Given the description of an element on the screen output the (x, y) to click on. 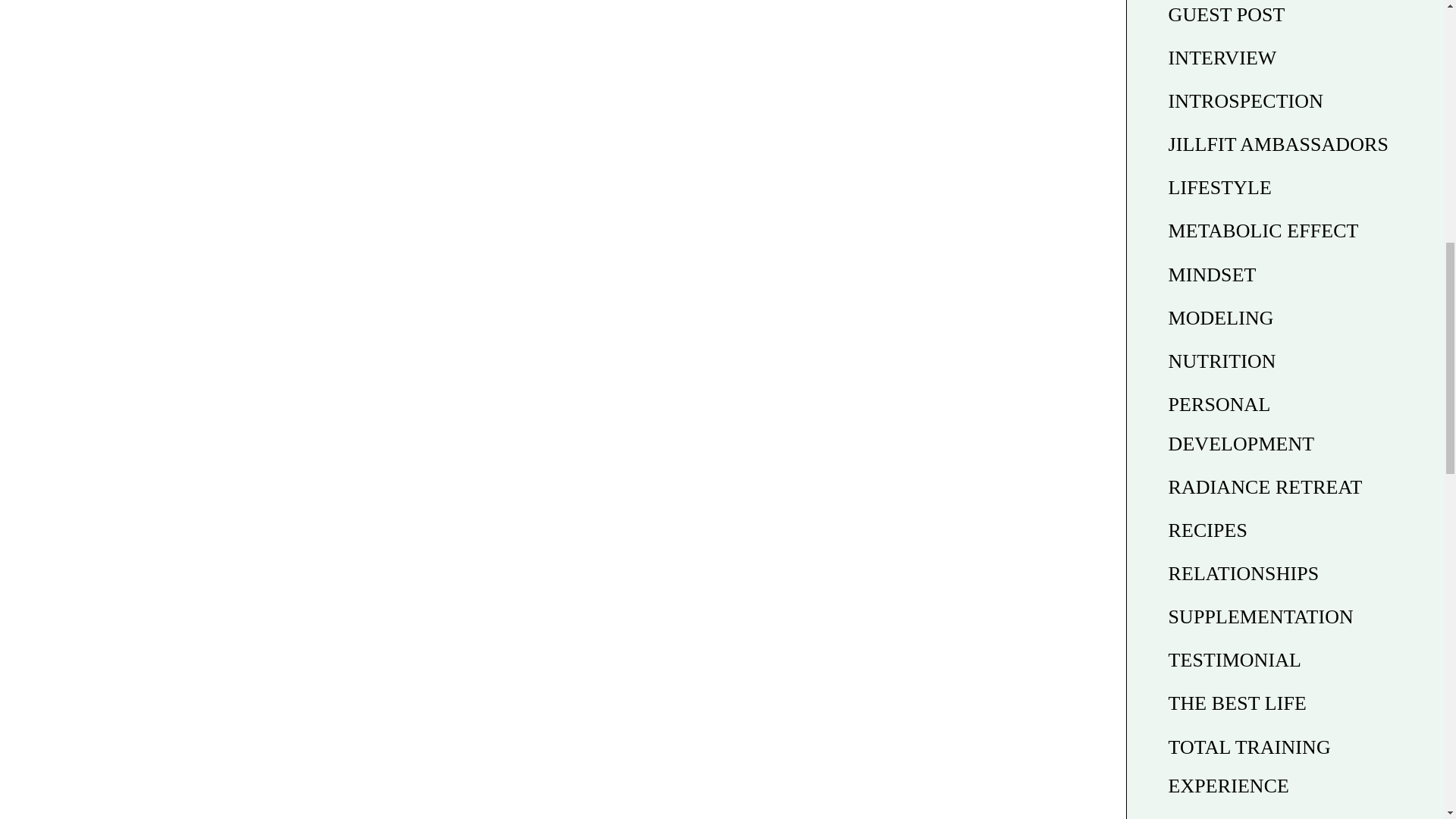
METABOLIC EFFECT (1263, 230)
INTERVIEW (1222, 57)
PERSONAL DEVELOPMENT (1241, 424)
RADIANCE RETREAT (1265, 486)
INTROSPECTION (1246, 101)
LIFESTYLE (1220, 187)
MINDSET (1212, 274)
JILLFIT AMBASSADORS (1279, 144)
NUTRITION (1222, 361)
GUEST POST (1227, 14)
MODELING (1221, 318)
